Given the description of an element on the screen output the (x, y) to click on. 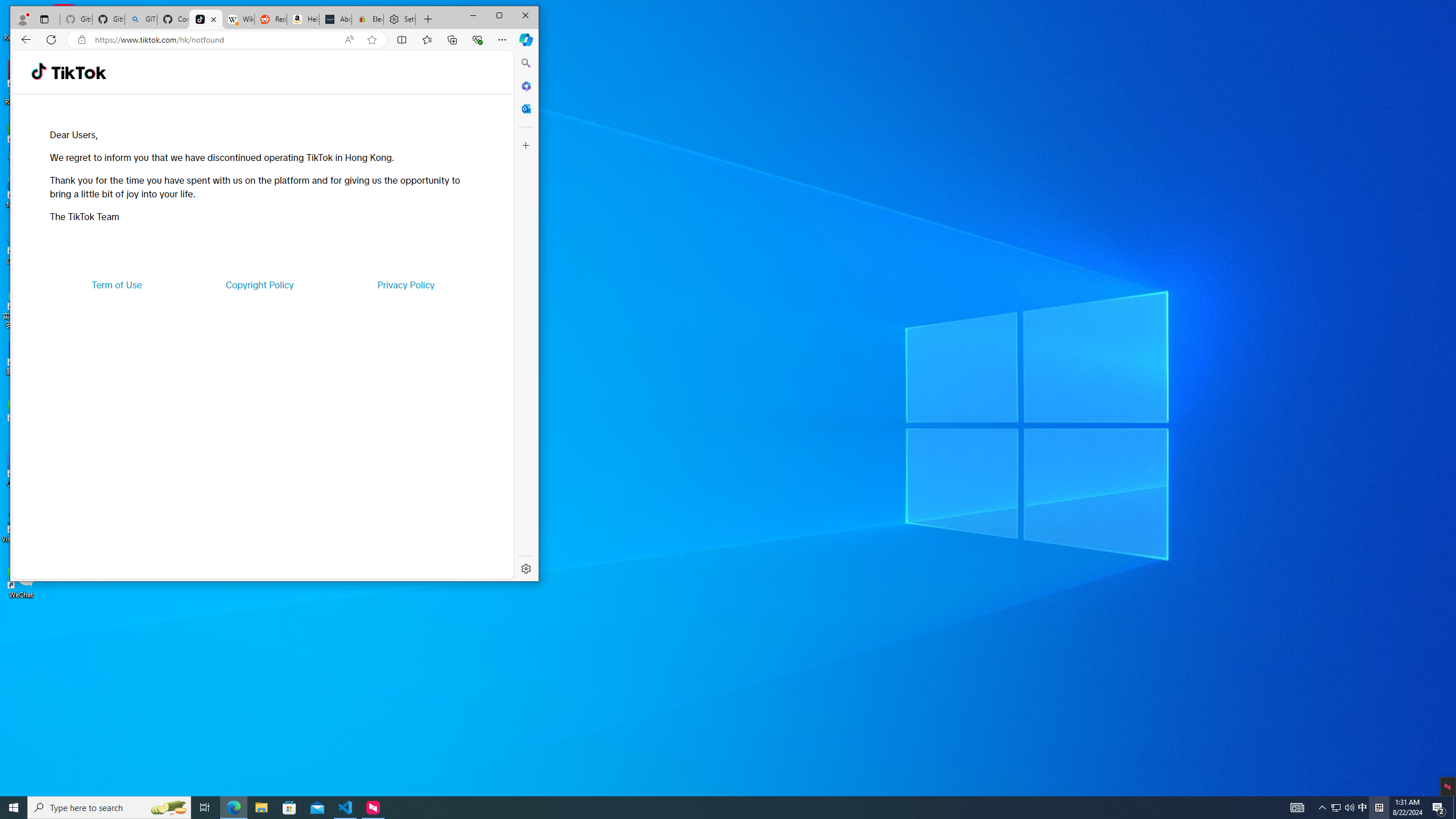
About Amazon (335, 19)
Microsoft Edge - 1 running window (233, 807)
File Explorer (261, 807)
Visual Studio Code - 1 running window (345, 807)
